Given the description of an element on the screen output the (x, y) to click on. 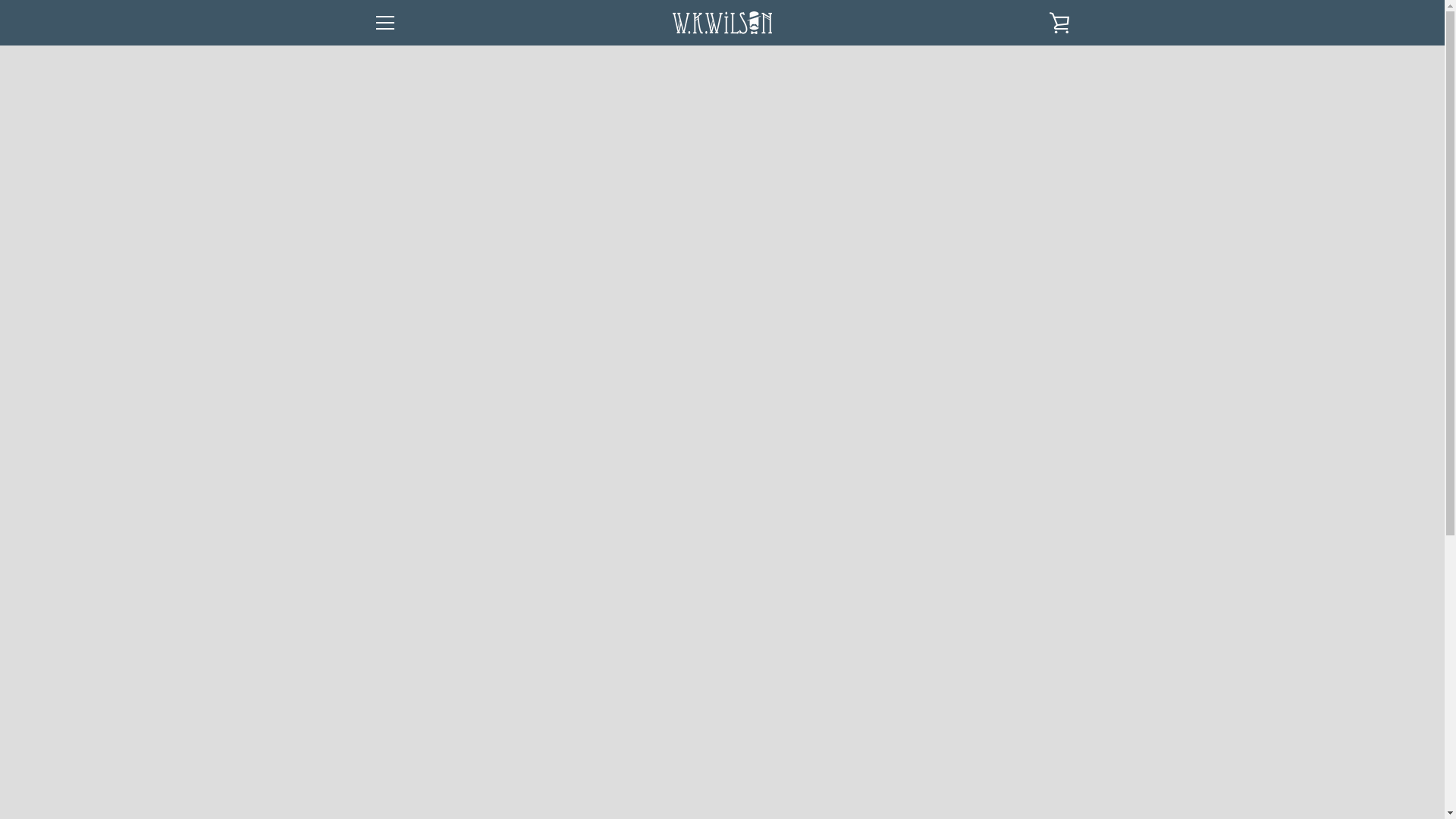
EXPAND NAVIGATION (384, 22)
VIEW CART (1059, 22)
